Given the description of an element on the screen output the (x, y) to click on. 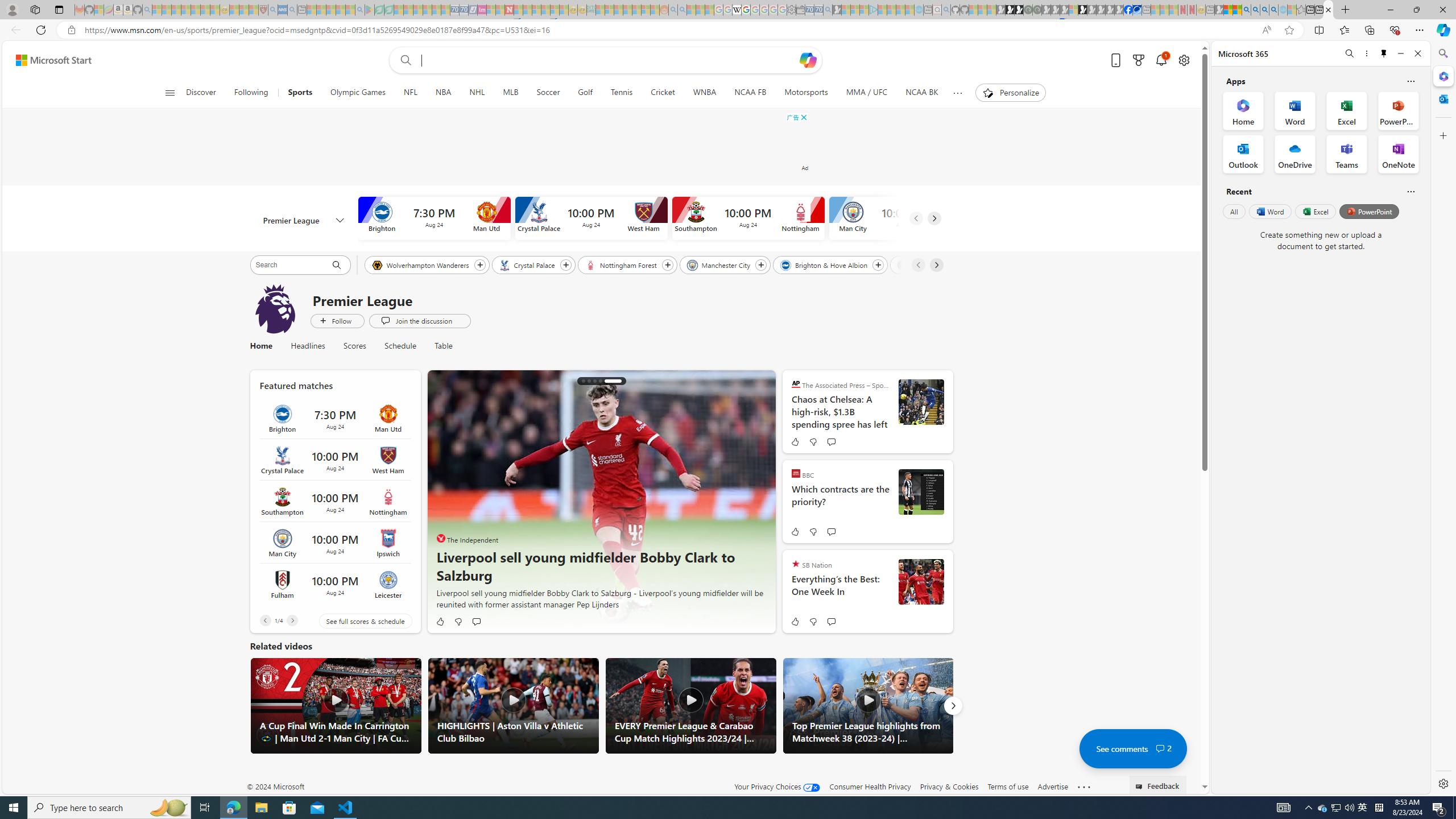
Class: cwt-icon-vector (1160, 748)
Olympic Games (357, 92)
Cricket (663, 92)
Southampton vs Nottingham Time 10:00 PM Date Aug 24 (334, 501)
Premier League (274, 308)
Join the discussion (419, 320)
Schedule (400, 345)
